Given the description of an element on the screen output the (x, y) to click on. 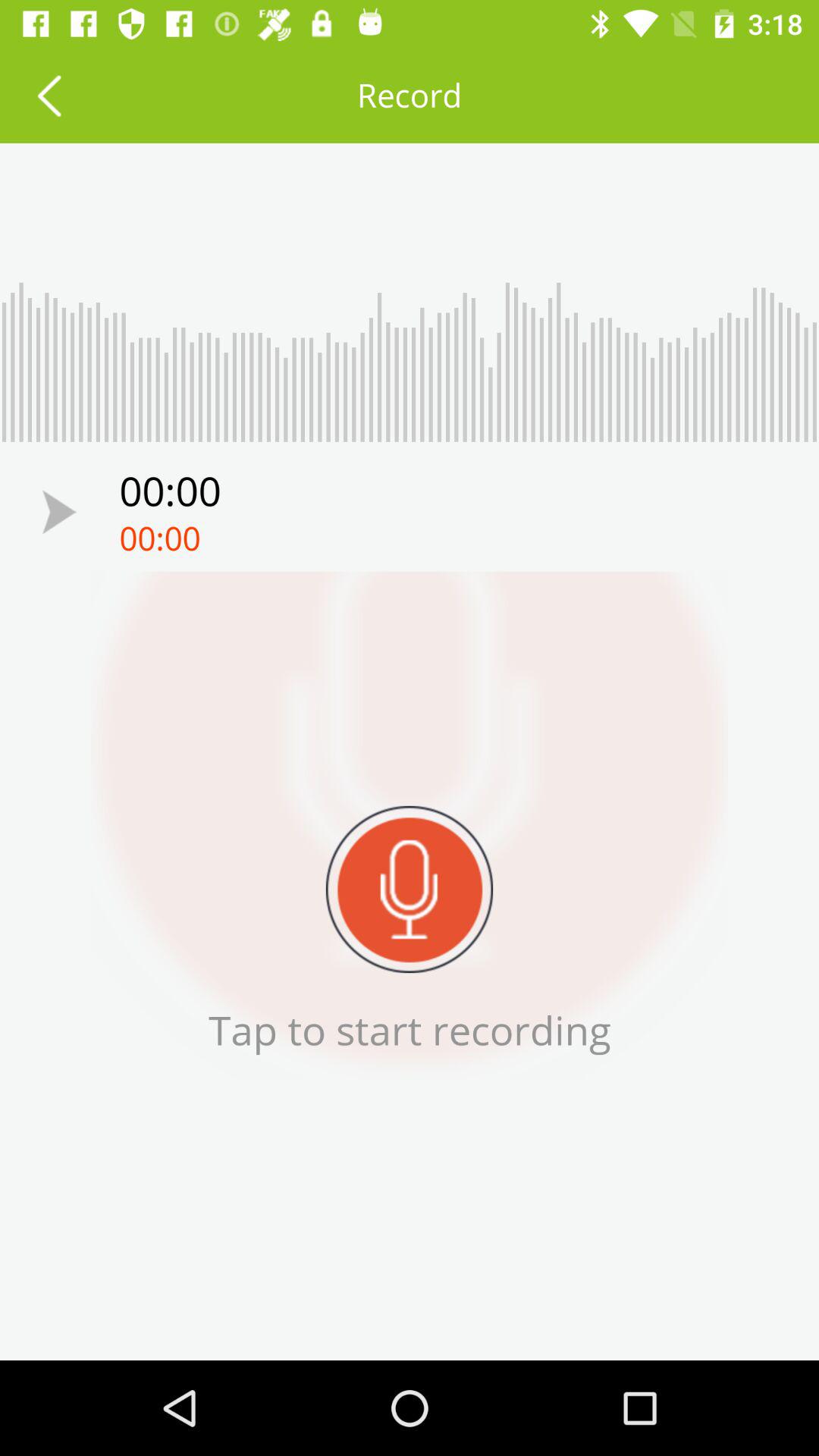
start recording (409, 889)
